Given the description of an element on the screen output the (x, y) to click on. 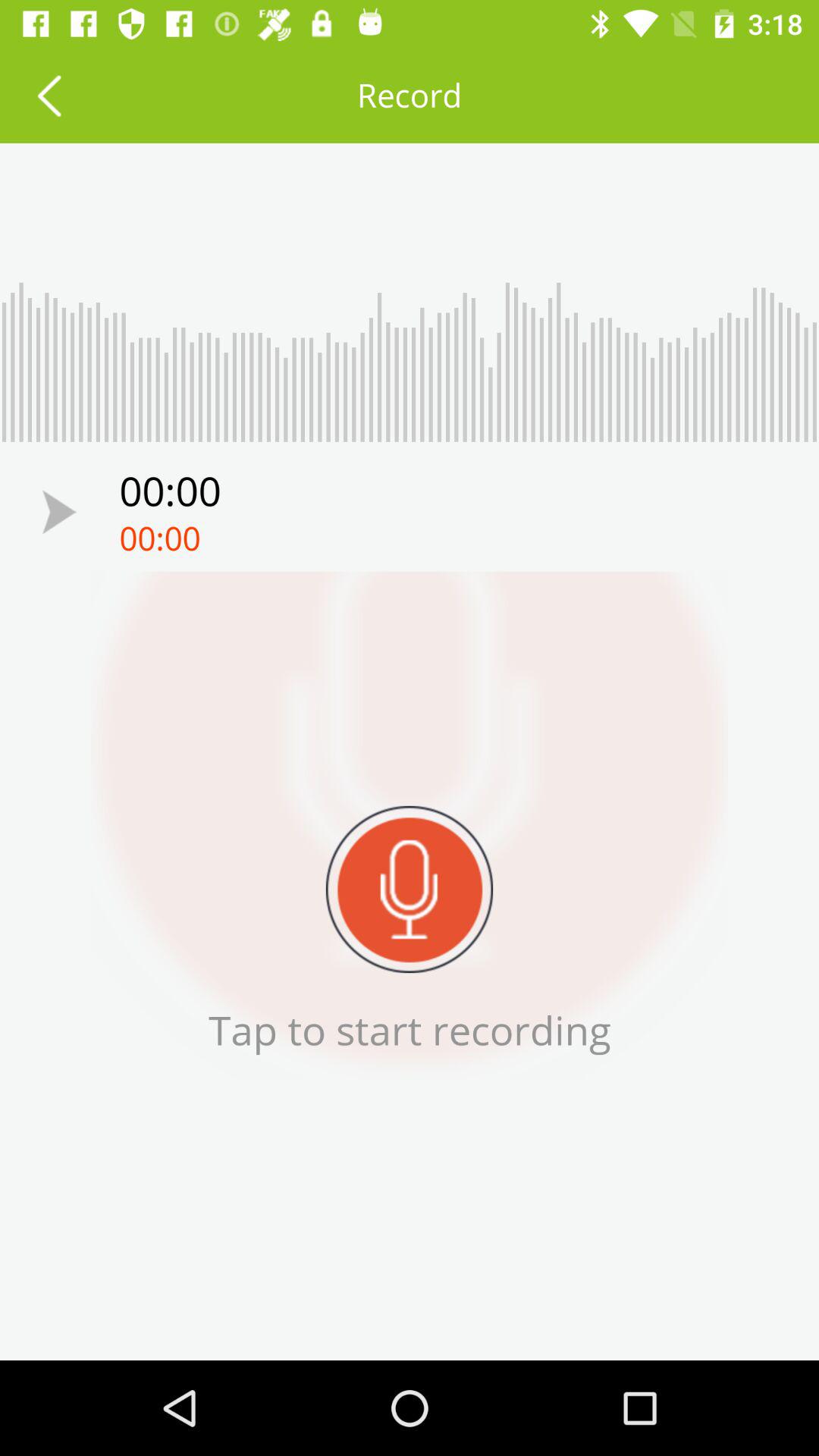
start recording (409, 889)
